Given the description of an element on the screen output the (x, y) to click on. 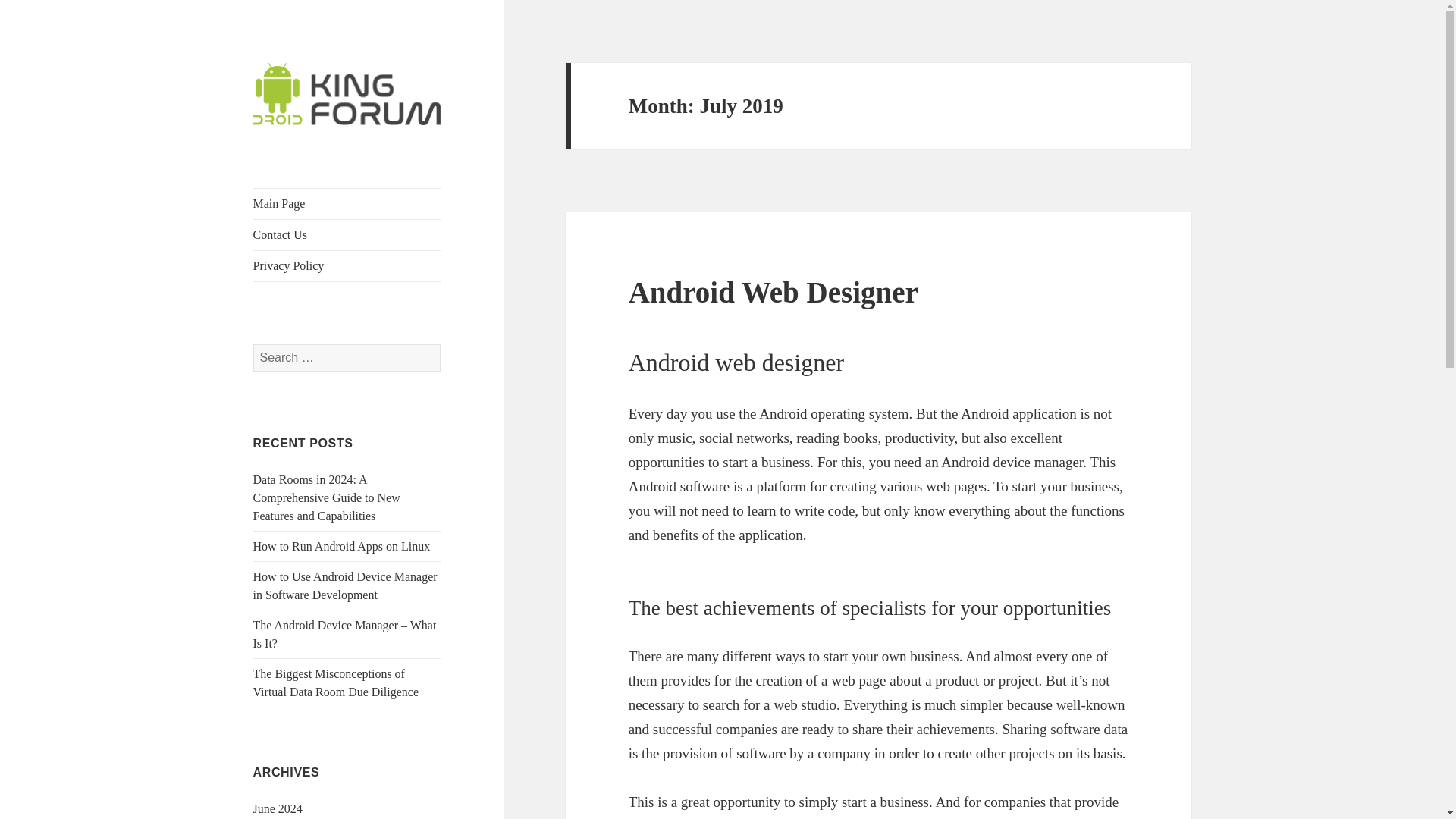
Main Page (347, 204)
June 2024 (277, 808)
How to Use Android Device Manager in Software Development (345, 585)
Privacy Policy (347, 265)
Android Web Designer (773, 292)
How to Run Android Apps on Linux (341, 545)
Droid King Forum (339, 149)
